Given the description of an element on the screen output the (x, y) to click on. 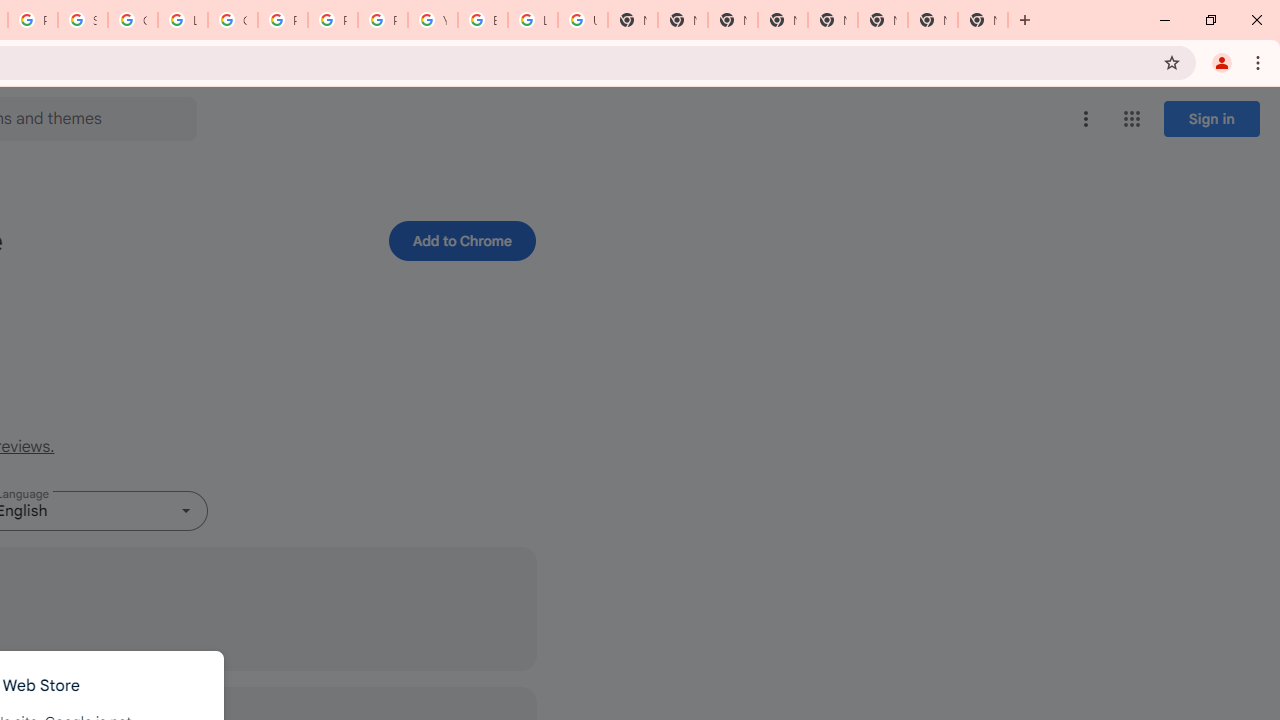
New Tab (982, 20)
Privacy Help Center - Policies Help (283, 20)
YouTube (433, 20)
Privacy Help Center - Policies Help (333, 20)
